Given the description of an element on the screen output the (x, y) to click on. 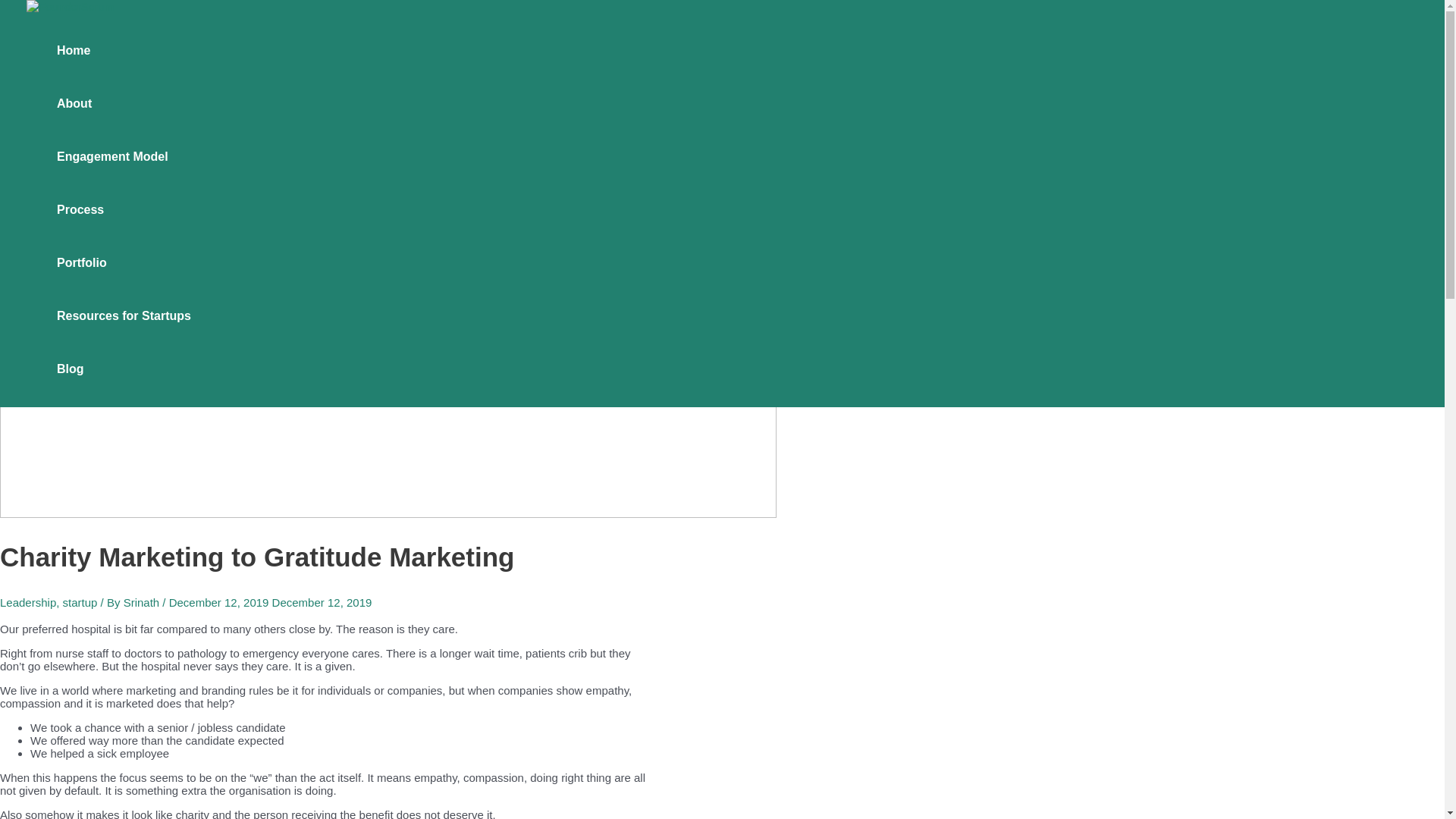
Leadership (28, 602)
Resources for Startups (123, 316)
startup (79, 602)
Srinath (143, 602)
Portfolio (123, 262)
View all posts by Srinath (143, 602)
Process (123, 209)
Engagement Model (123, 156)
About (123, 103)
Blog (123, 369)
